Given the description of an element on the screen output the (x, y) to click on. 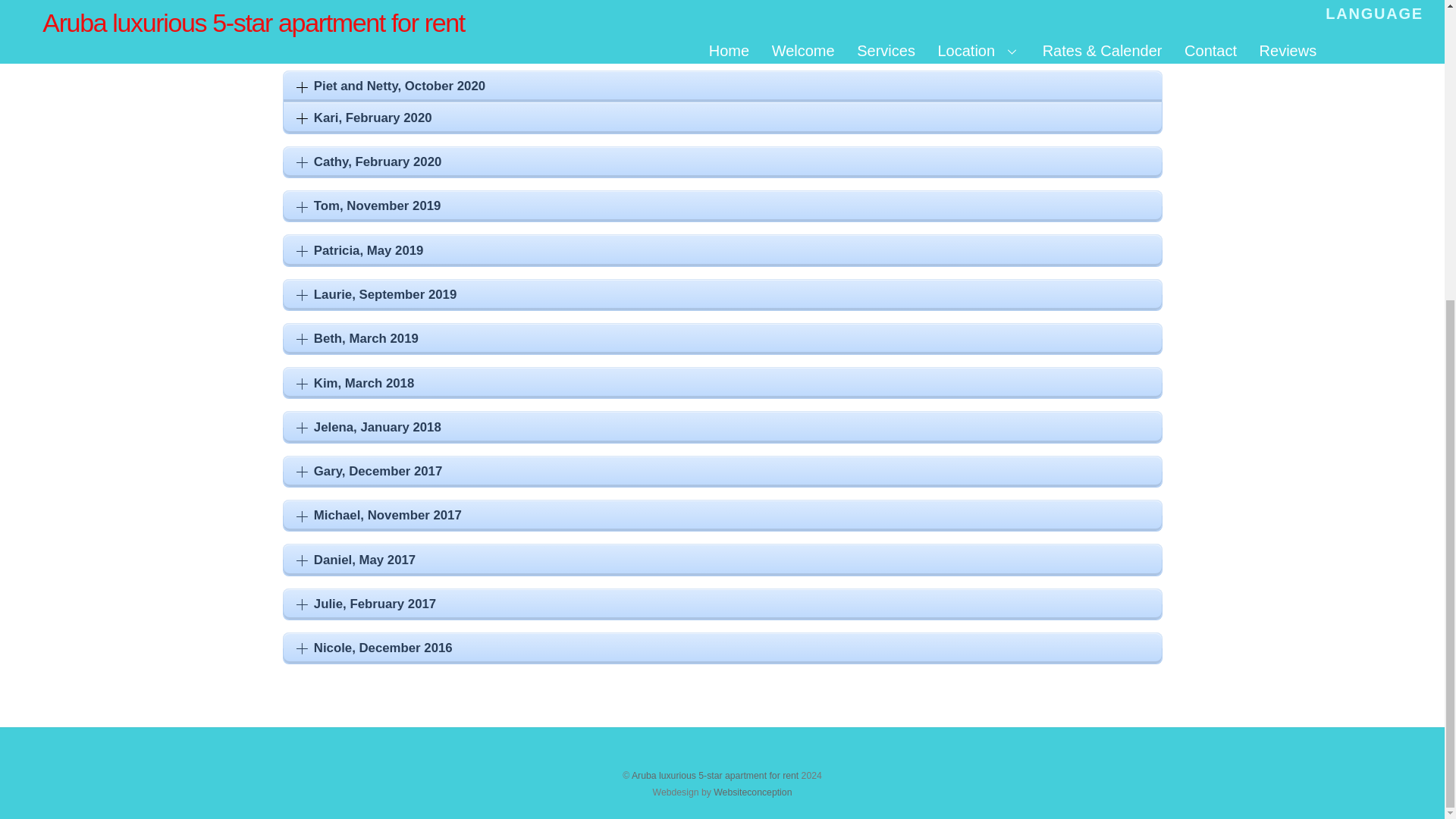
Gary, December 2017 (369, 471)
Nicole, December 2016 (374, 648)
Cathy, February 2020 (368, 162)
Jelena, January 2018 (368, 426)
Laurie, September 2019 (376, 295)
Beth, March 2019 (356, 338)
Patricia, May 2019 (359, 250)
Julie, February 2017 (365, 603)
Websiteconception (752, 792)
Michael, November 2017 (378, 515)
